Given the description of an element on the screen output the (x, y) to click on. 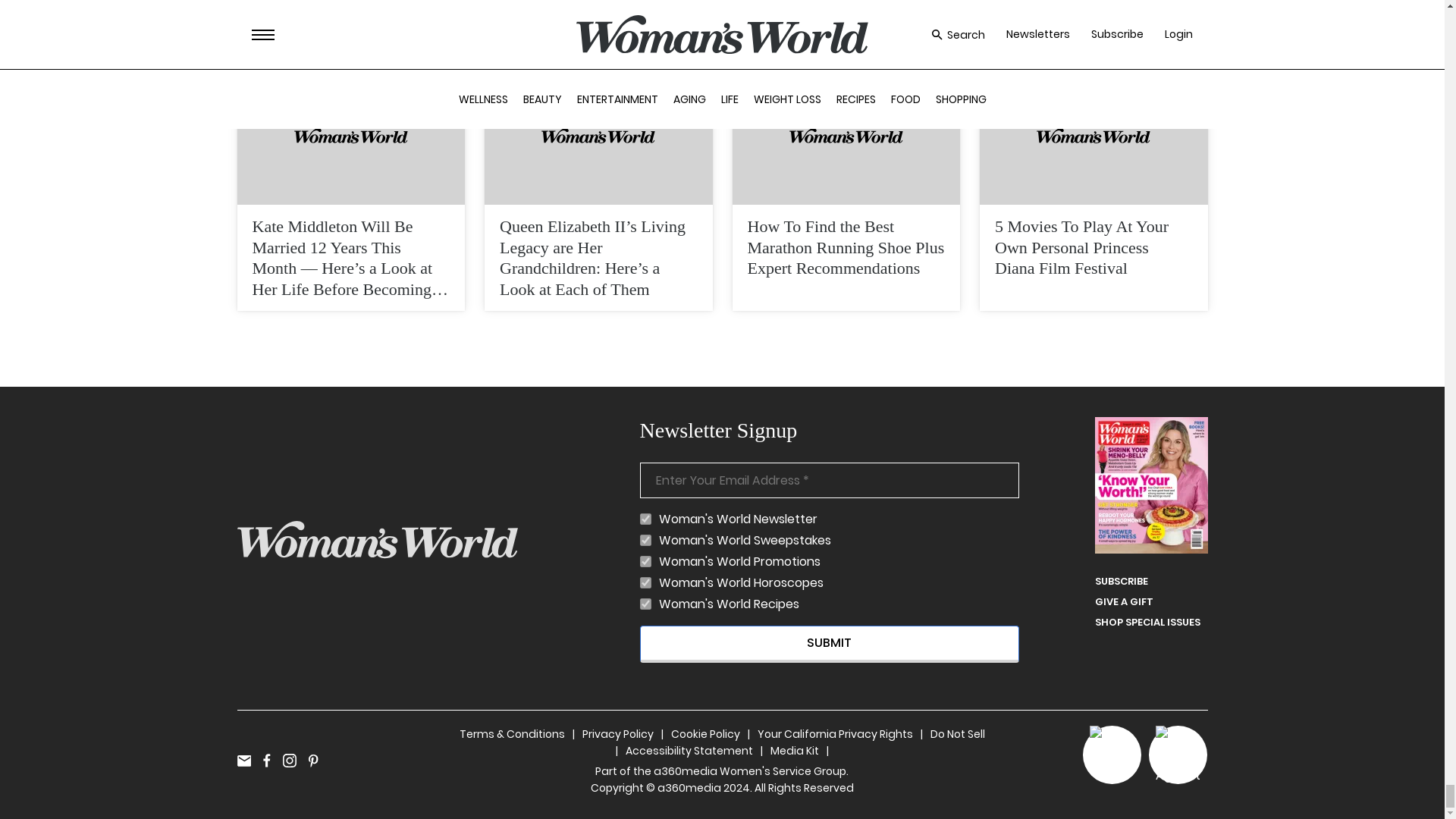
1 (645, 518)
1 (645, 582)
1 (645, 561)
1 (645, 540)
1 (645, 603)
